Given the description of an element on the screen output the (x, y) to click on. 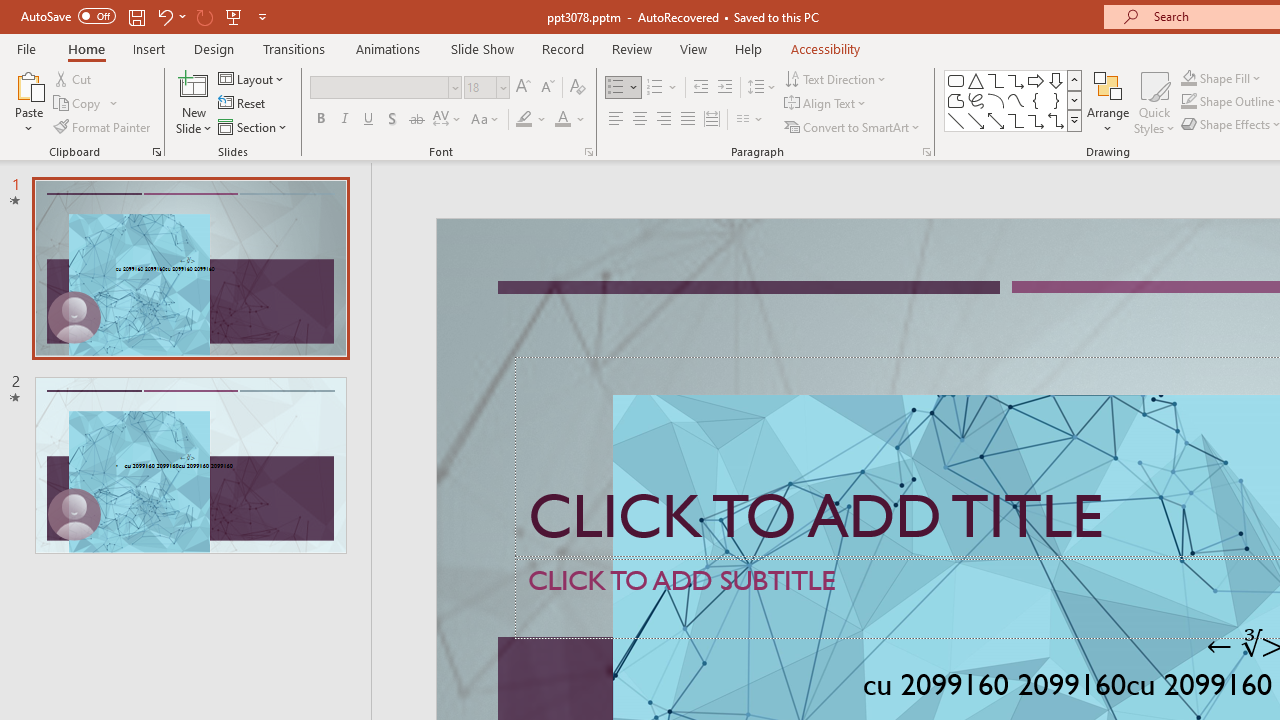
Line Spacing (762, 87)
Freeform: Shape (955, 100)
Align Left (616, 119)
Arrow: Down (1055, 80)
Numbering (654, 87)
Cut (73, 78)
Align Right (663, 119)
Convert to SmartArt (853, 126)
Curve (1016, 100)
Distributed (712, 119)
Copy (78, 103)
Italic (344, 119)
